Given the description of an element on the screen output the (x, y) to click on. 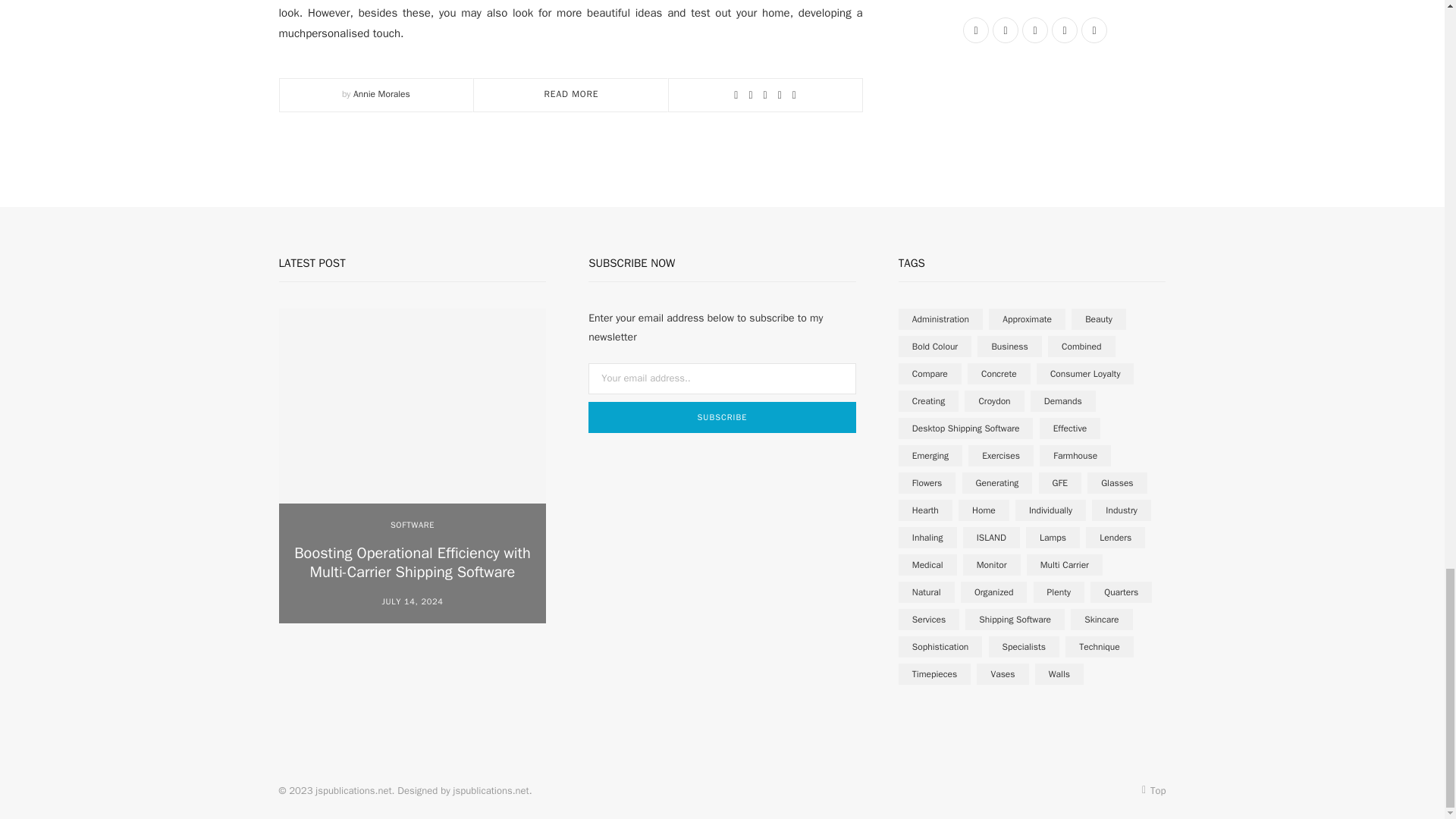
Annie Morales (381, 93)
READ MORE (571, 93)
Posts by Annie Morales (381, 93)
Subscribe (722, 417)
